Given the description of an element on the screen output the (x, y) to click on. 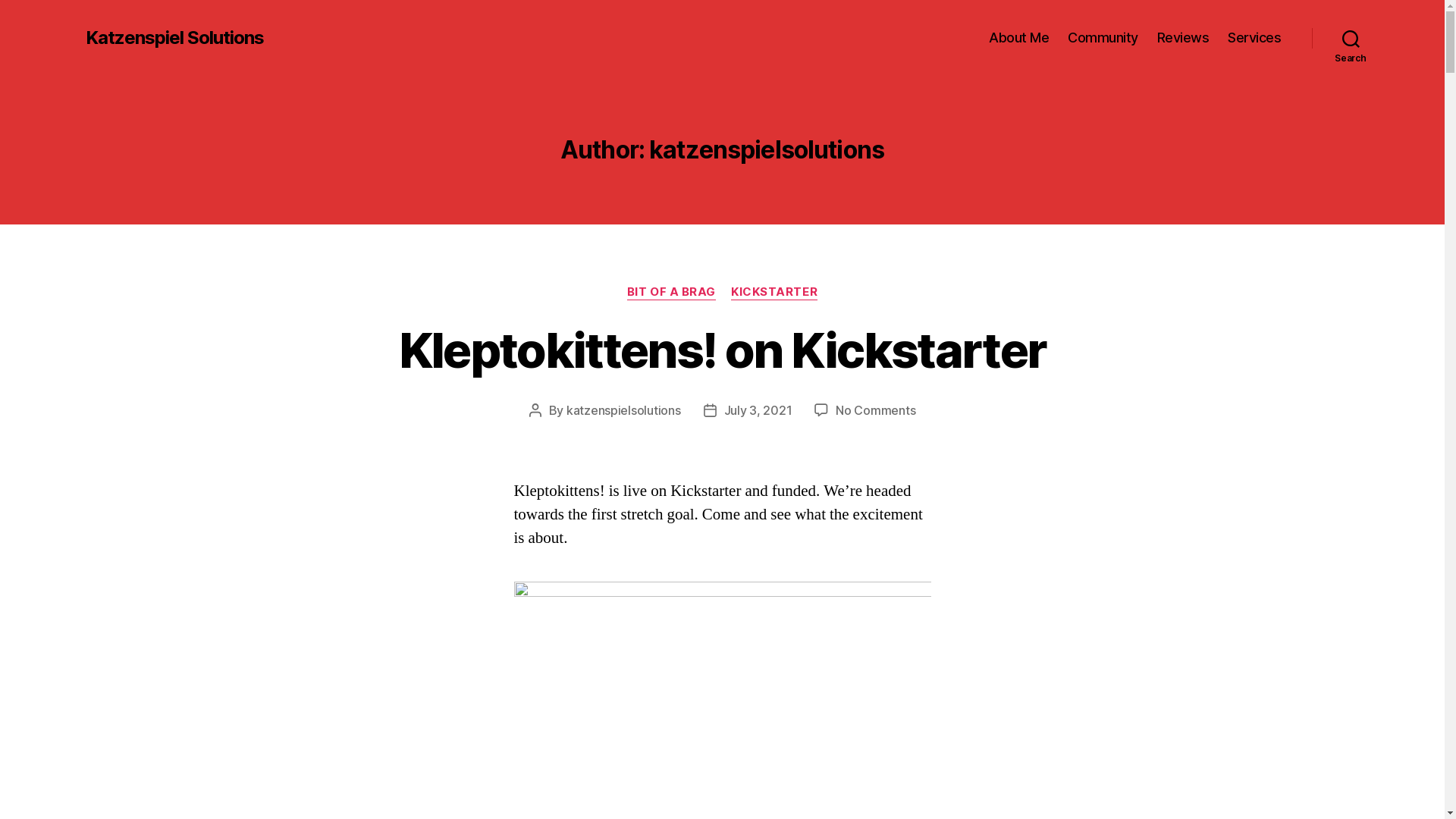
July 3, 2021 Element type: text (757, 409)
No Comments
on Kleptokittens! on Kickstarter Element type: text (875, 409)
KICKSTARTER Element type: text (774, 292)
About Me Element type: text (1018, 37)
BIT OF A BRAG Element type: text (671, 292)
Search Element type: text (1350, 37)
Community Element type: text (1102, 37)
Reviews Element type: text (1183, 37)
Services Element type: text (1253, 37)
Kleptokittens! on Kickstarter Element type: text (722, 349)
Katzenspiel Solutions Element type: text (173, 37)
katzenspielsolutions Element type: text (623, 409)
